Given the description of an element on the screen output the (x, y) to click on. 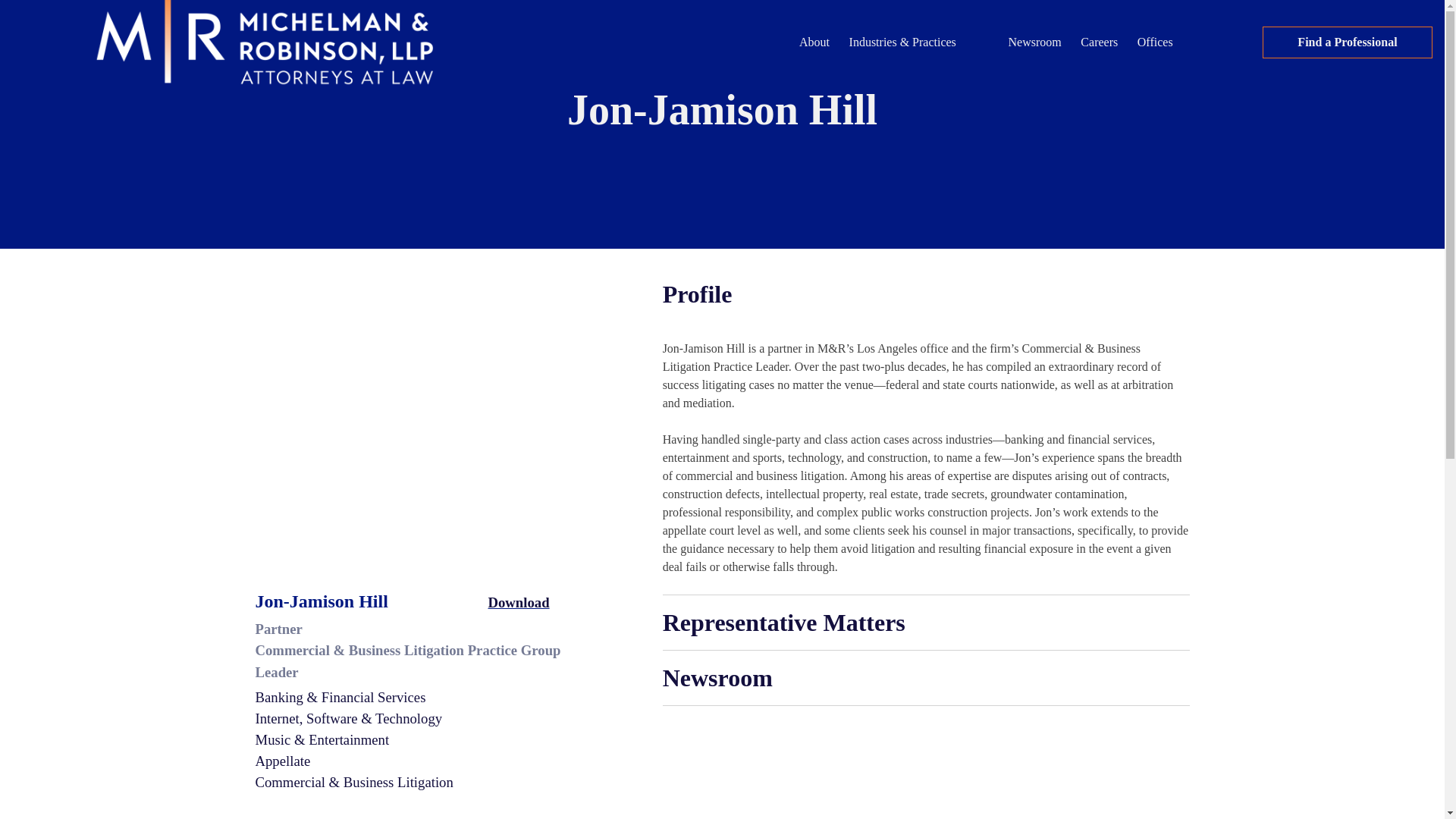
Representative Matters (925, 622)
Careers (1098, 42)
Download (505, 602)
Profile (925, 293)
Search (1394, 42)
About (814, 42)
Newsroom (925, 677)
Offices (1154, 42)
Newsroom (1034, 42)
Find a Professional (1347, 42)
